Given the description of an element on the screen output the (x, y) to click on. 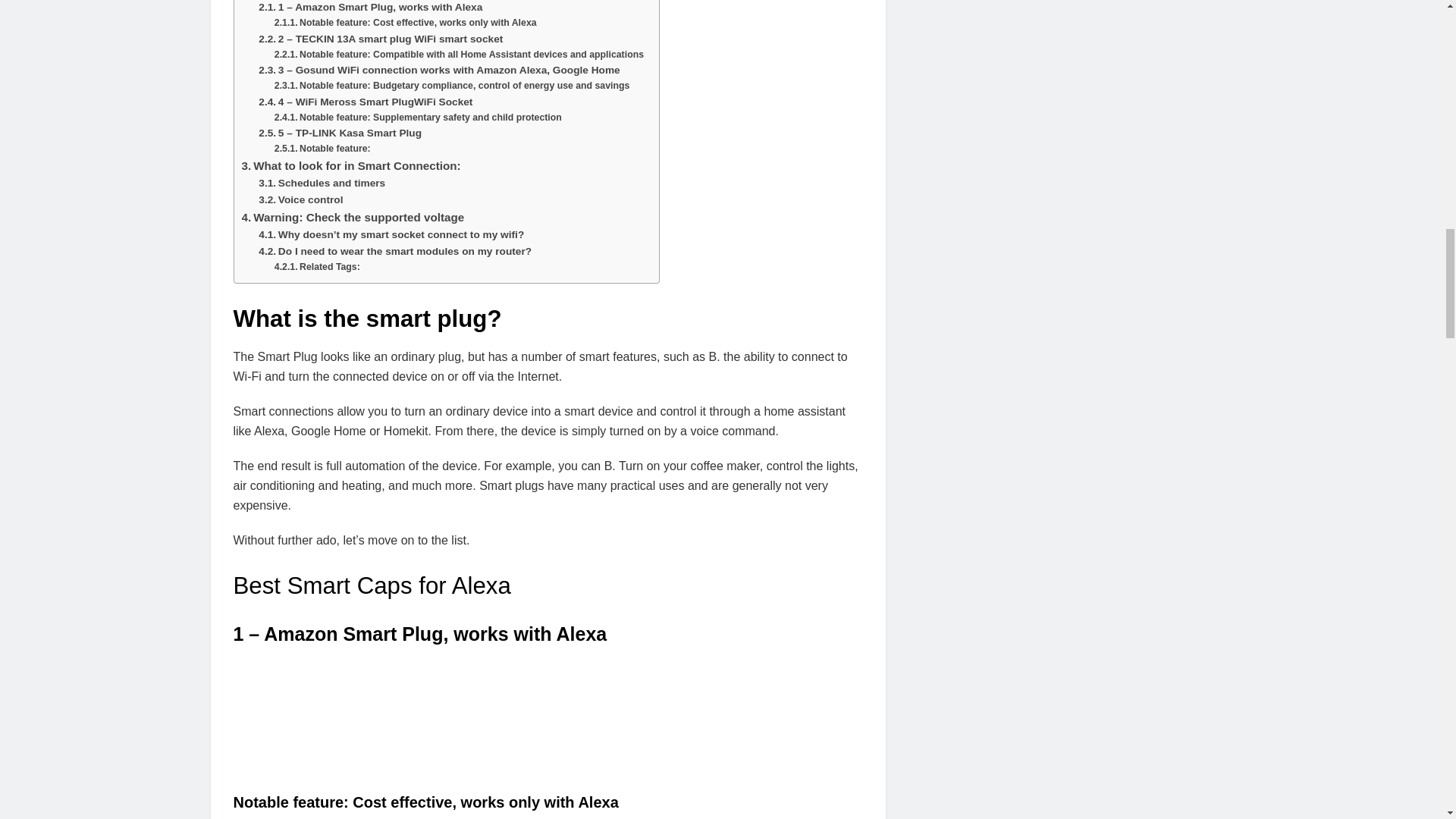
What to look for in Smart Connection: (350, 166)
Schedules and timers (322, 183)
Notable feature: (323, 149)
Notable feature: Supplementary safety and child protection (418, 118)
Notable feature: Cost effective, works only with Alexa (406, 23)
Voice control (300, 199)
Warning: Check the supported voltage (352, 217)
